Given the description of an element on the screen output the (x, y) to click on. 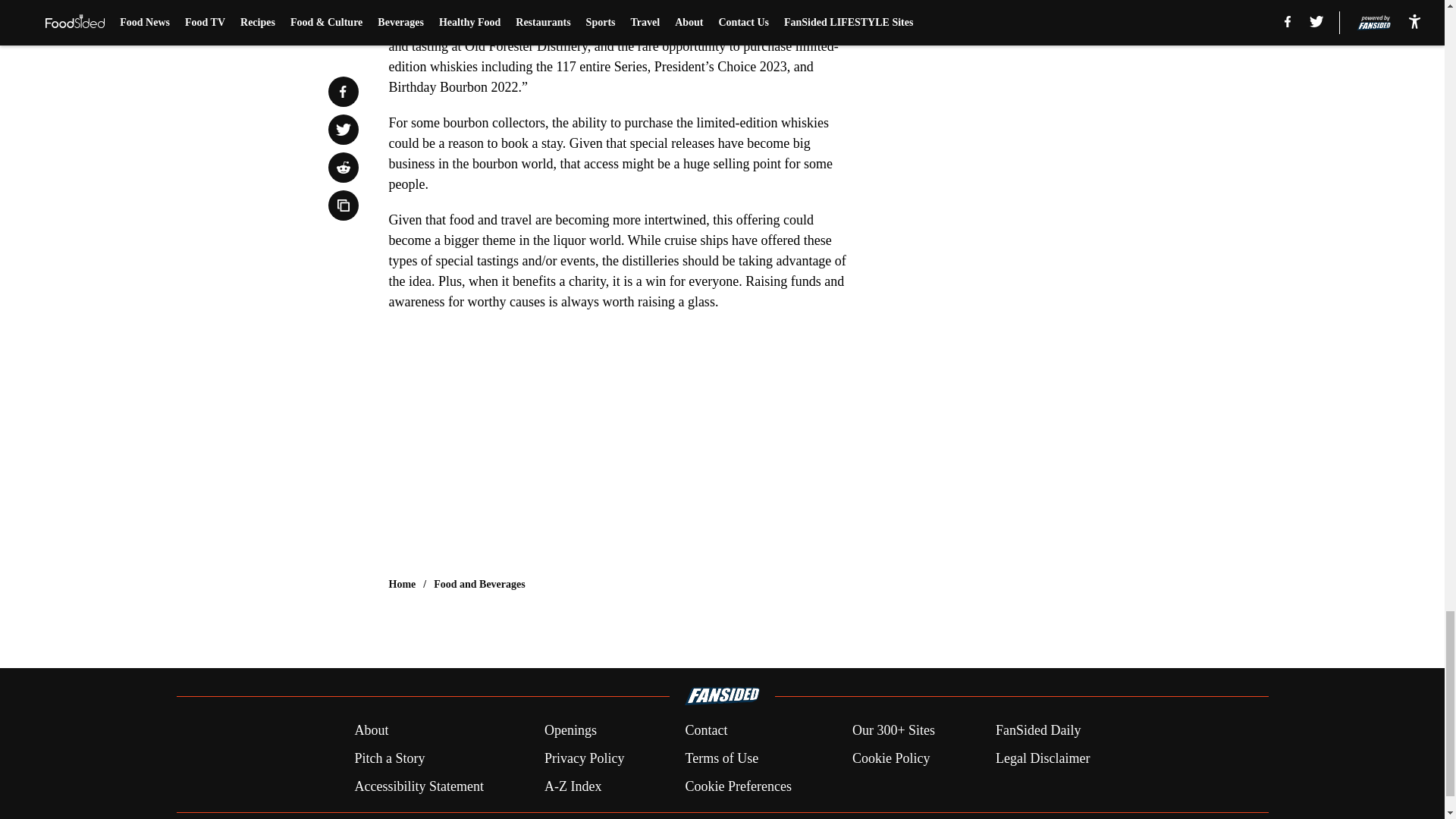
Home (401, 584)
Openings (570, 730)
Contact (705, 730)
FanSided Daily (1038, 730)
Food and Beverages (479, 584)
booking the apartment (700, 6)
About (370, 730)
